Given the description of an element on the screen output the (x, y) to click on. 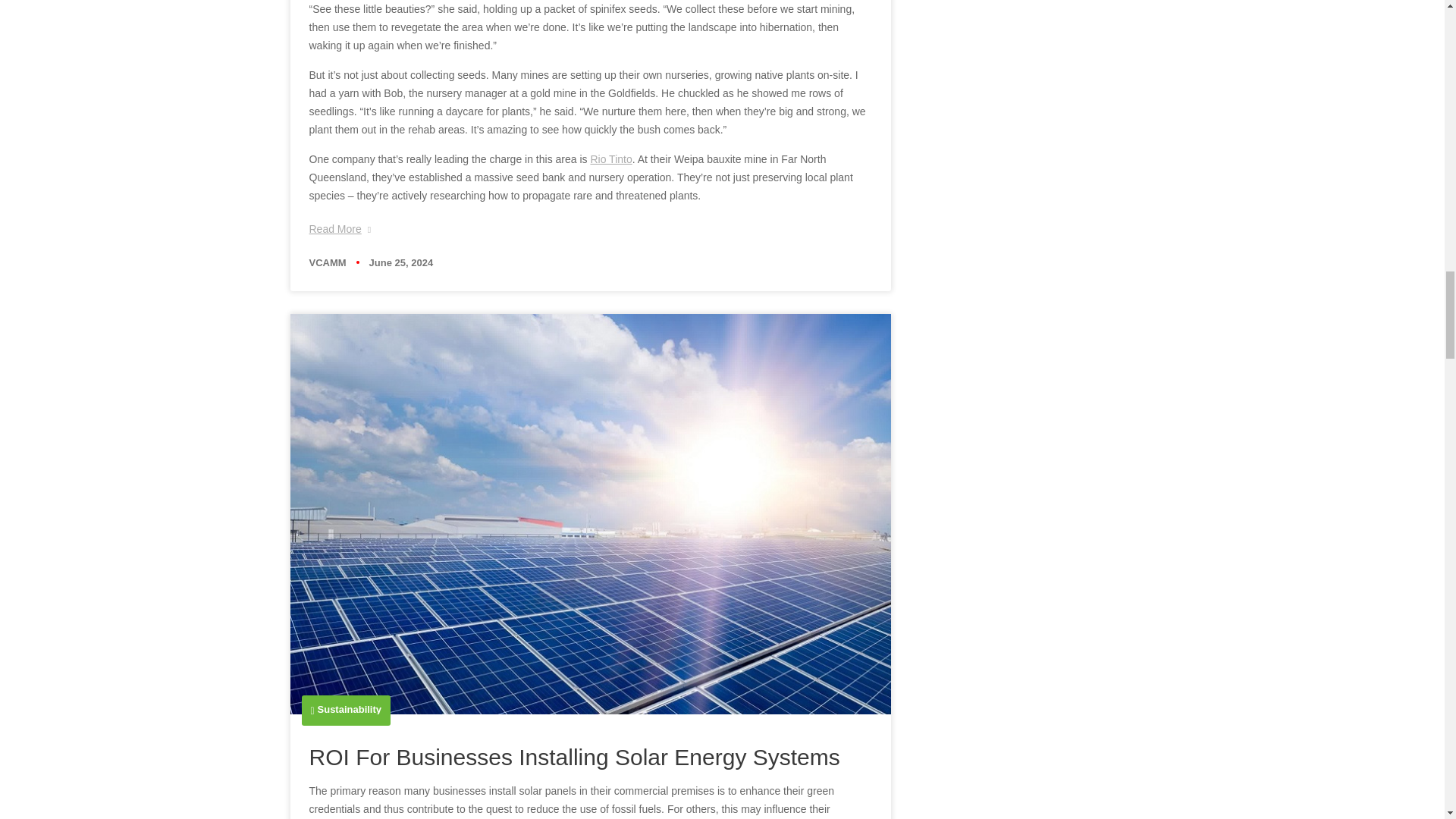
Sustainability (349, 709)
Read More (339, 229)
Rio Tinto (610, 159)
ROI For Businesses Installing Solar Energy Systems (574, 756)
VCAMM (327, 262)
June 25, 2024 (401, 262)
